Given the description of an element on the screen output the (x, y) to click on. 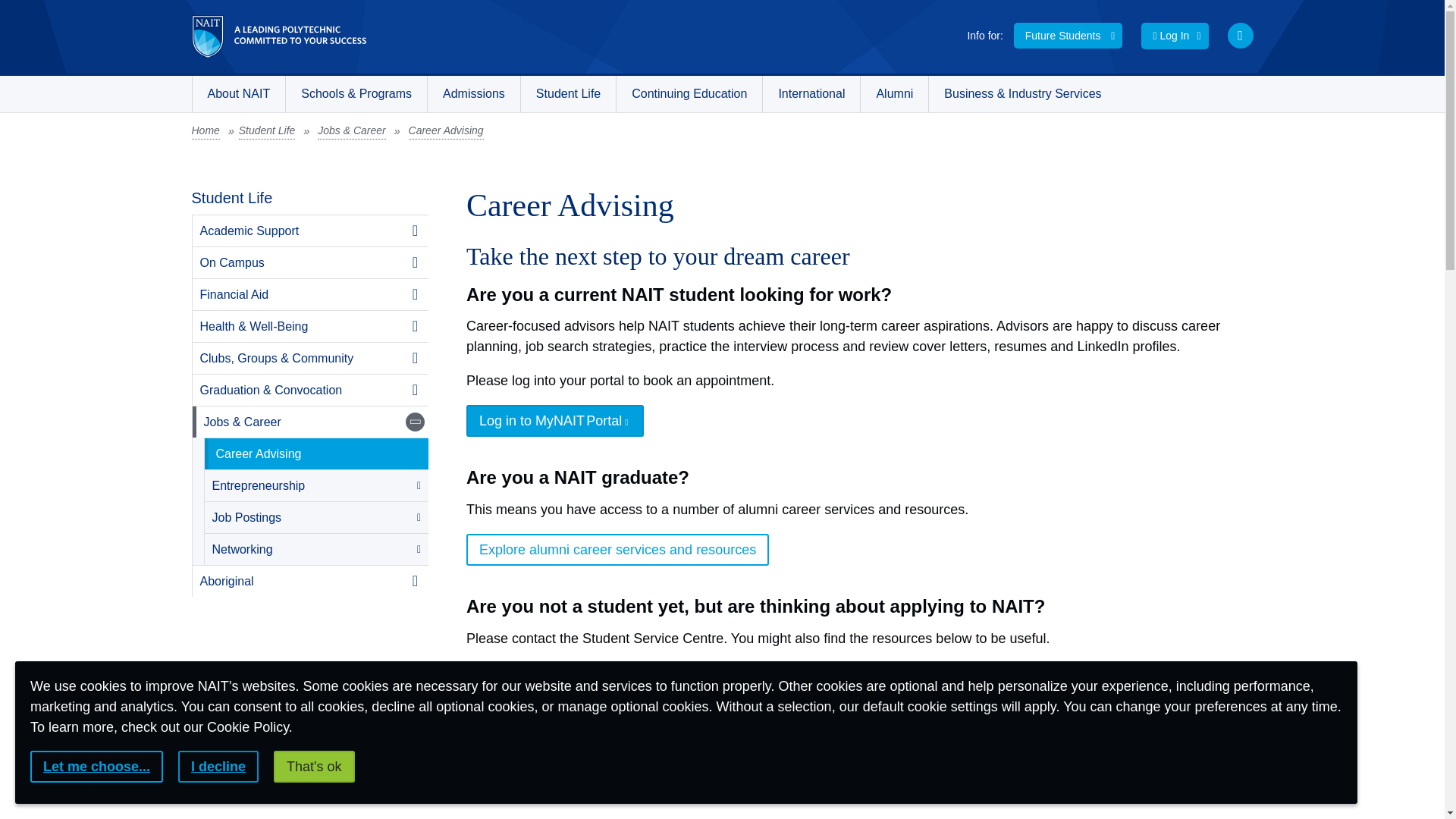
NAIT - A Leading Polytechnic Committed to Student Success (277, 36)
Log In (1174, 35)
Future Students (1067, 35)
About NAIT (238, 94)
